Given the description of an element on the screen output the (x, y) to click on. 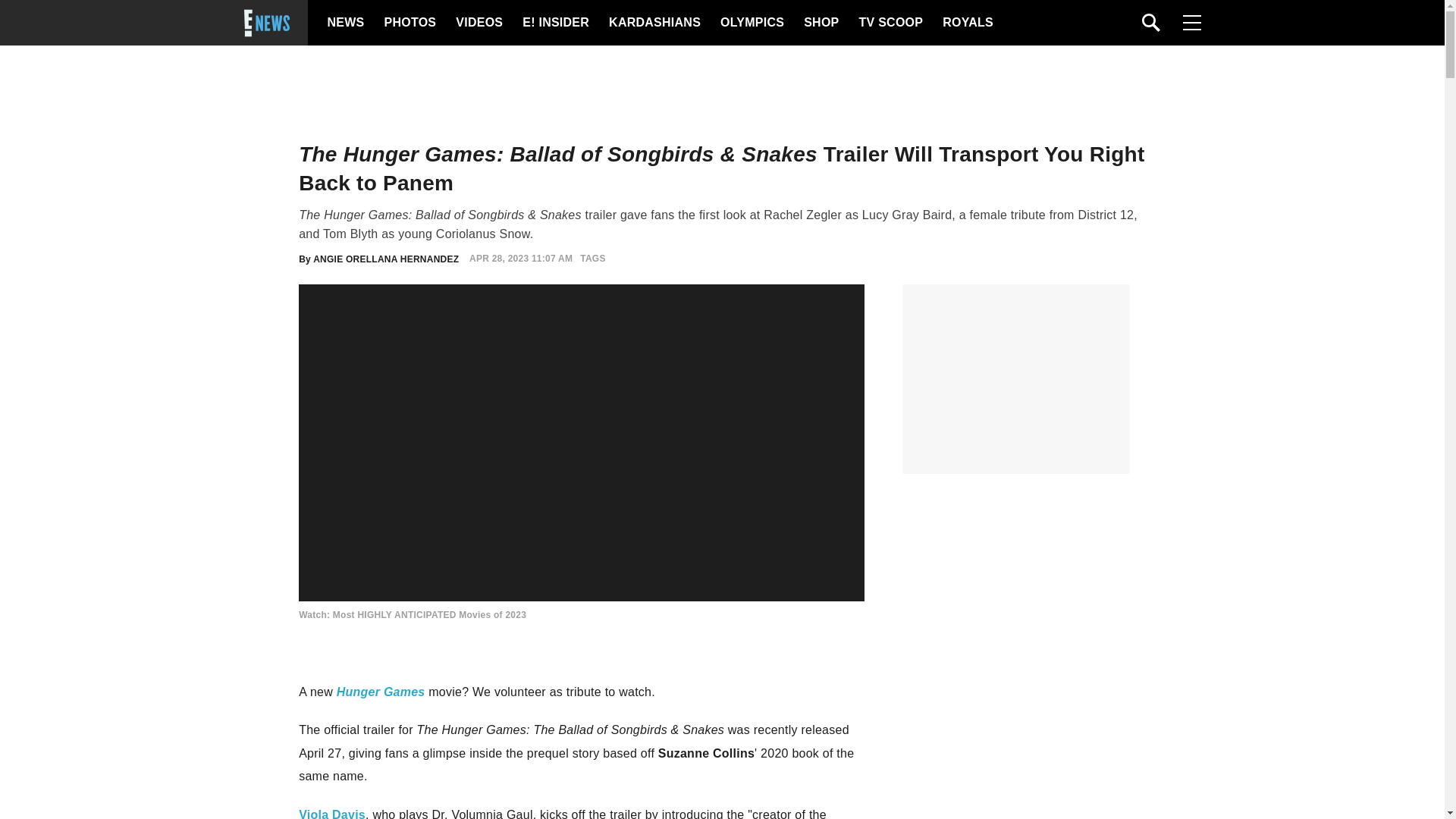
ANGIE ORELLANA HERNANDEZ (385, 258)
Hunger Games (380, 691)
TV SCOOP (890, 22)
NEWS (345, 22)
KARDASHIANS (653, 22)
SHOP (820, 22)
OLYMPICS (751, 22)
PHOTOS (408, 22)
E! INSIDER (555, 22)
Viola Davis (331, 813)
ROYALS (966, 22)
VIDEOS (478, 22)
